Given the description of an element on the screen output the (x, y) to click on. 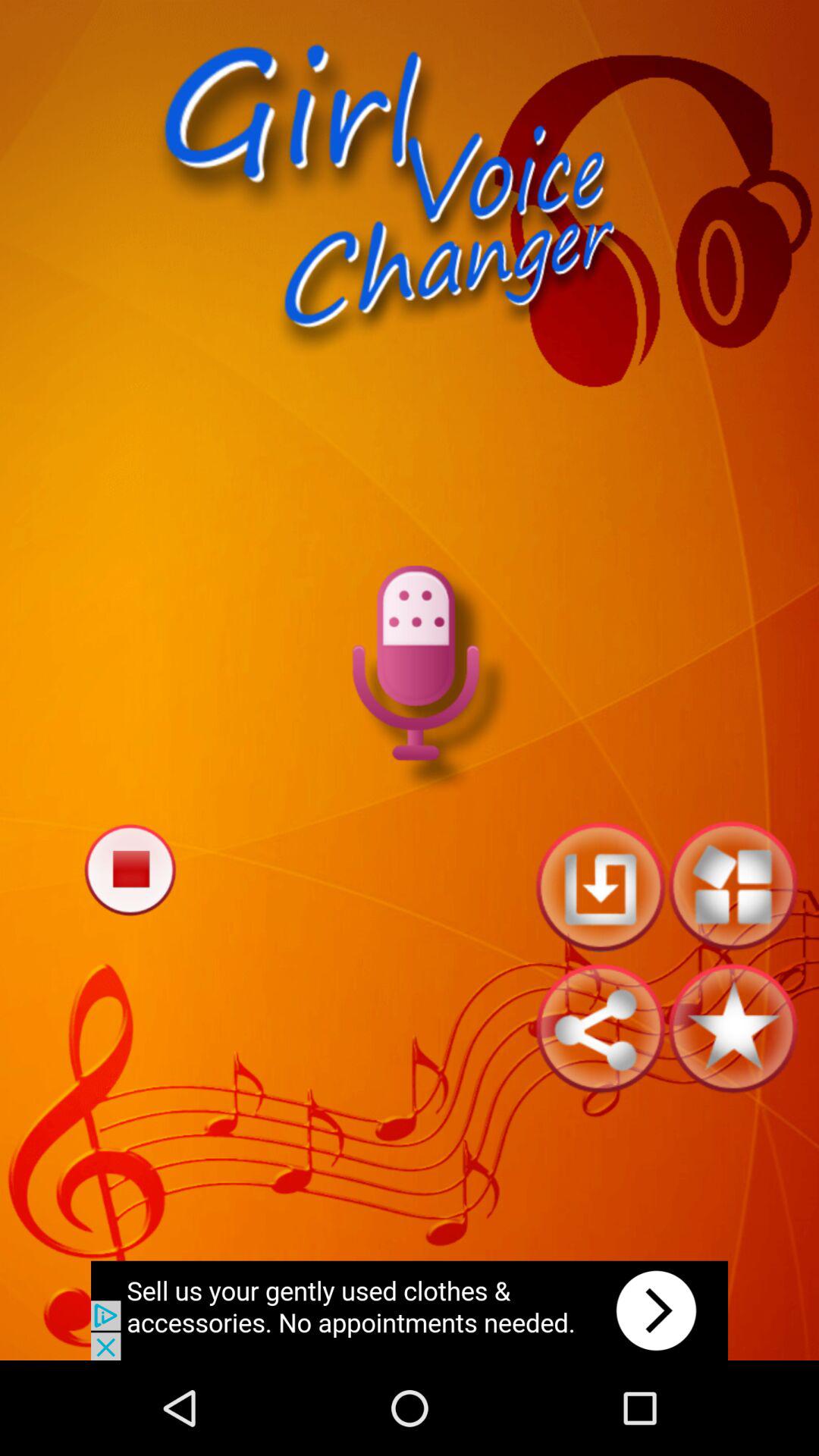
end option (129, 869)
